Given the description of an element on the screen output the (x, y) to click on. 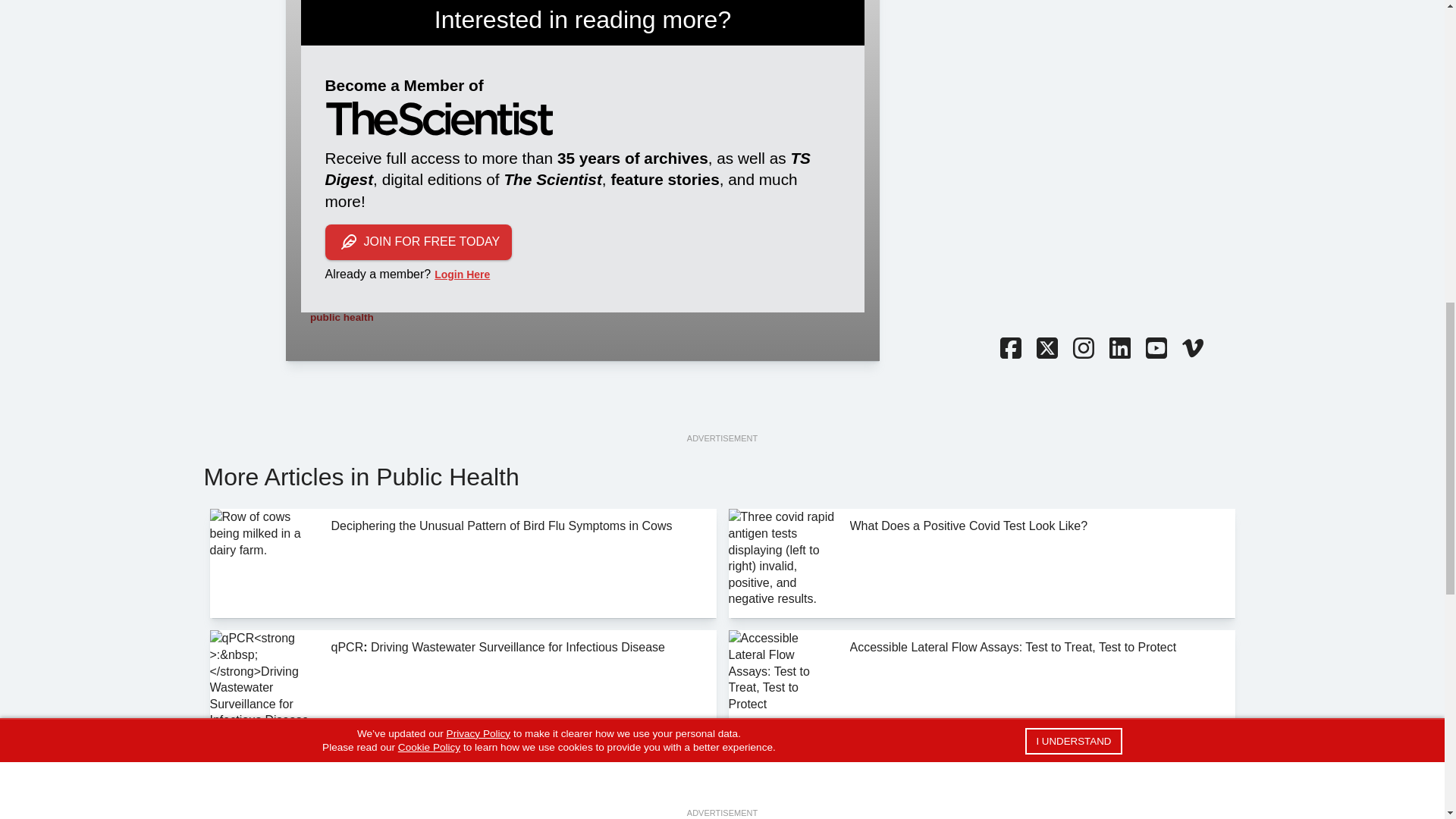
Facebook (1009, 349)
Vimeo (1191, 349)
LinkedIn (1118, 349)
Row of cows being milked in a dairy farm. (263, 563)
Instagram (1082, 349)
YouTube (1155, 349)
Twitter (1045, 349)
